Given the description of an element on the screen output the (x, y) to click on. 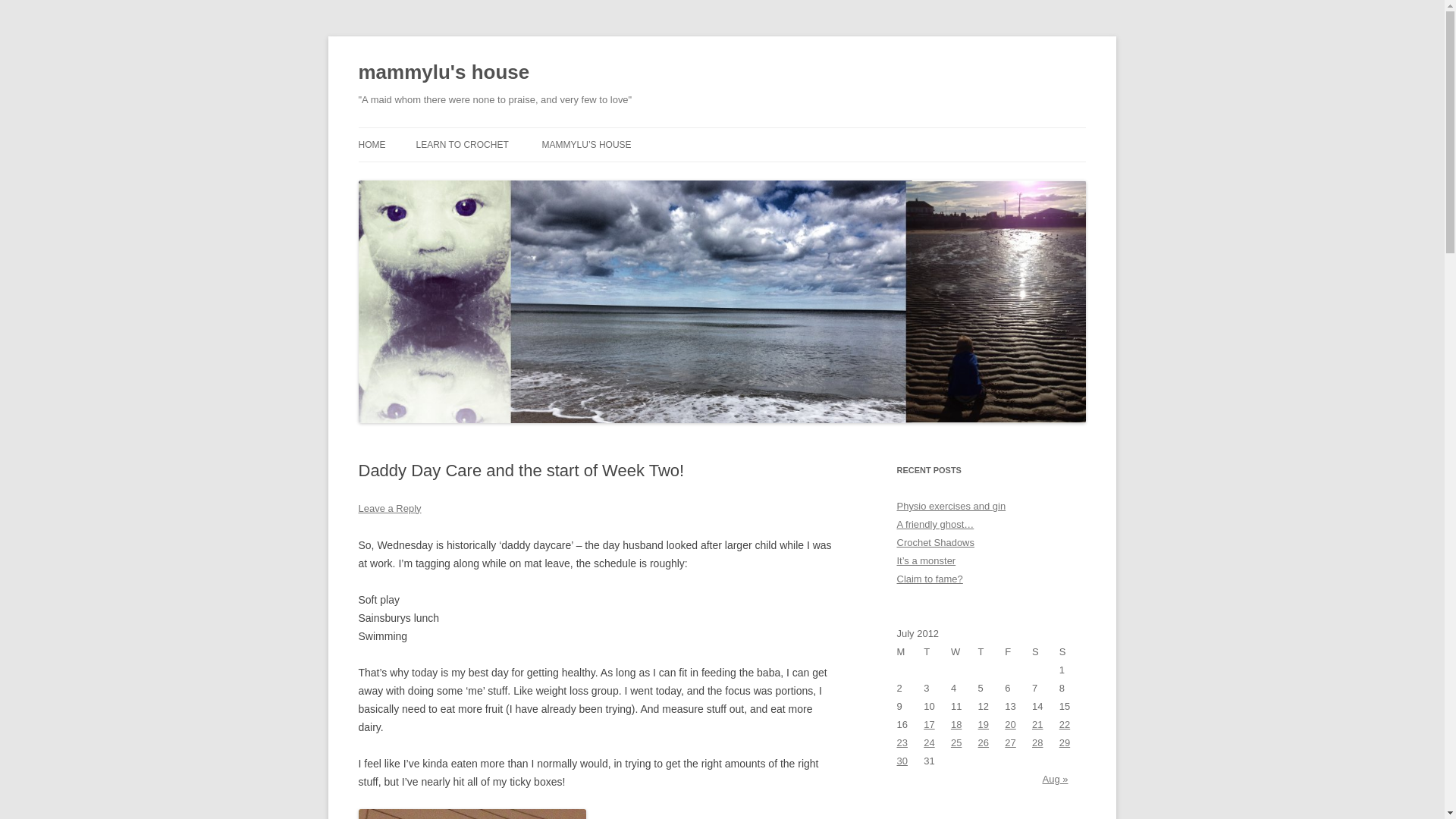
mammylu's house (443, 72)
18 (955, 724)
Friday (1018, 651)
Physio exercises and gin (951, 505)
20 (1009, 724)
Crochet Shadows (935, 542)
Monday (909, 651)
21 (1037, 724)
